Given the description of an element on the screen output the (x, y) to click on. 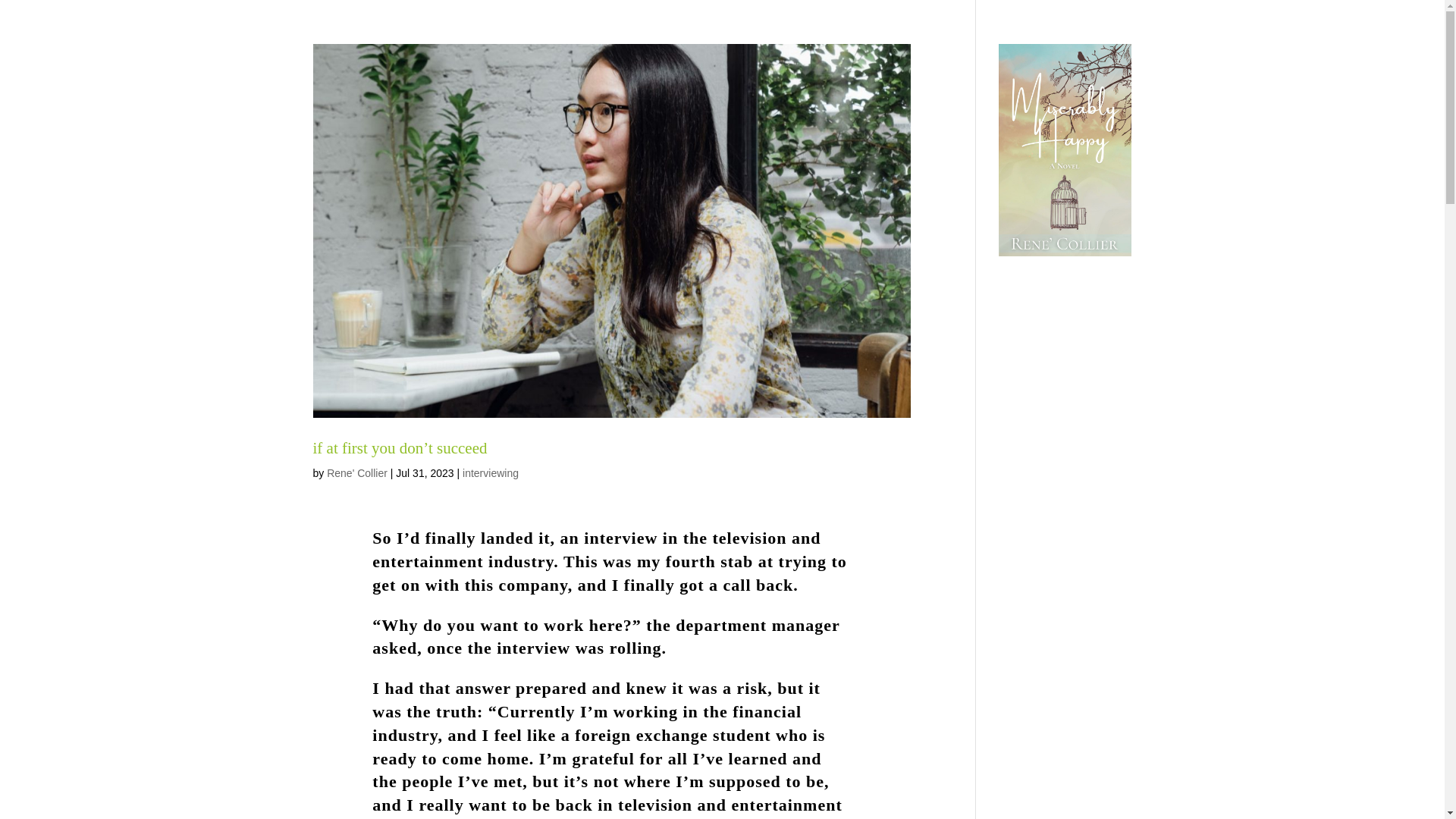
interviewing (490, 472)
Rene' Collier (356, 472)
Posts by Rene' Collier (356, 472)
